Given the description of an element on the screen output the (x, y) to click on. 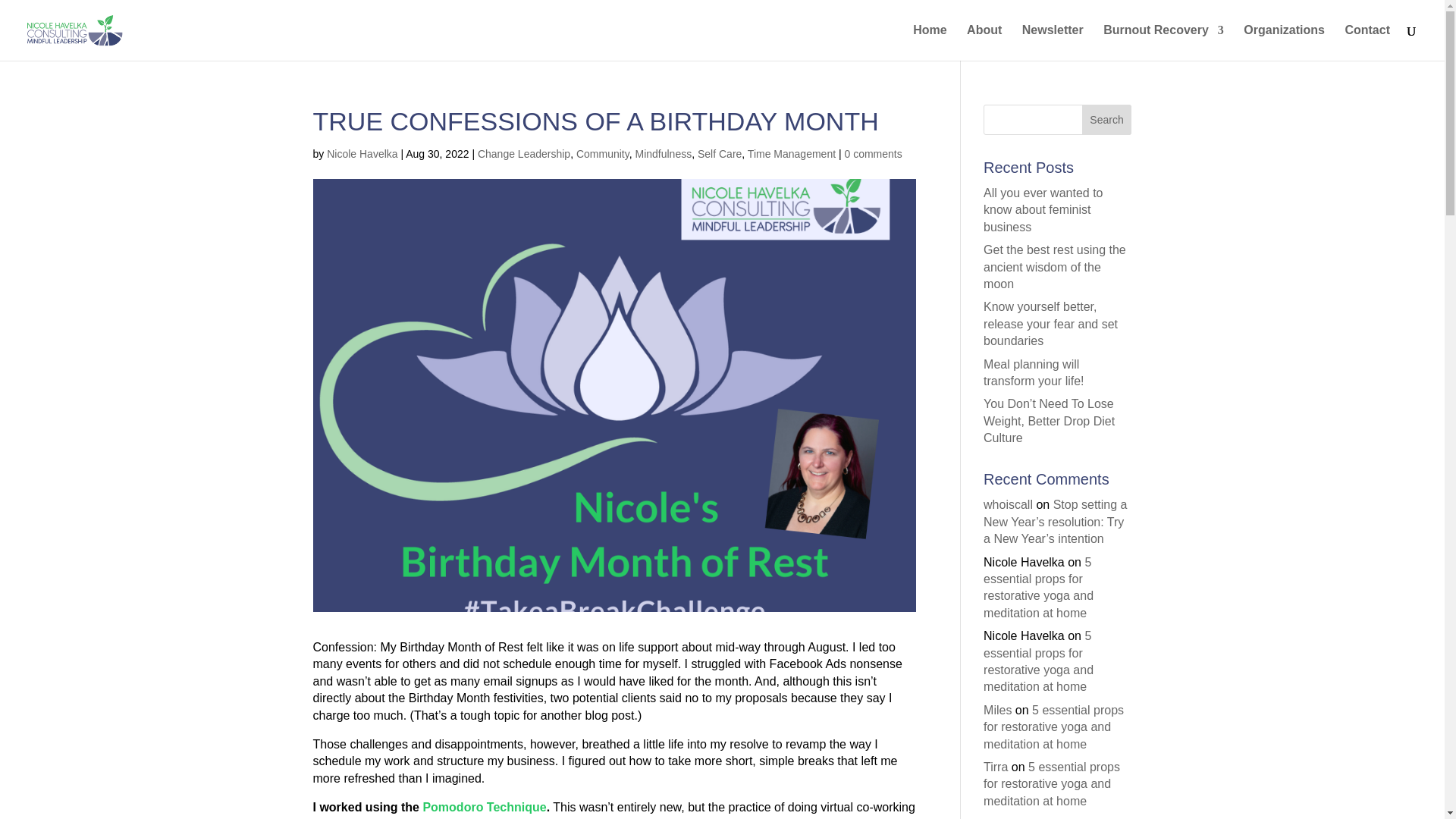
Burnout Recovery (1163, 42)
Newsletter (1052, 42)
Nicole Havelka (361, 153)
Change Leadership (523, 153)
Get the best rest using the ancient wisdom of the moon (1054, 266)
Meal planning will transform your life! (1033, 372)
Self Care (719, 153)
Home (929, 42)
Contact (1366, 42)
Search (1106, 119)
